Given the description of an element on the screen output the (x, y) to click on. 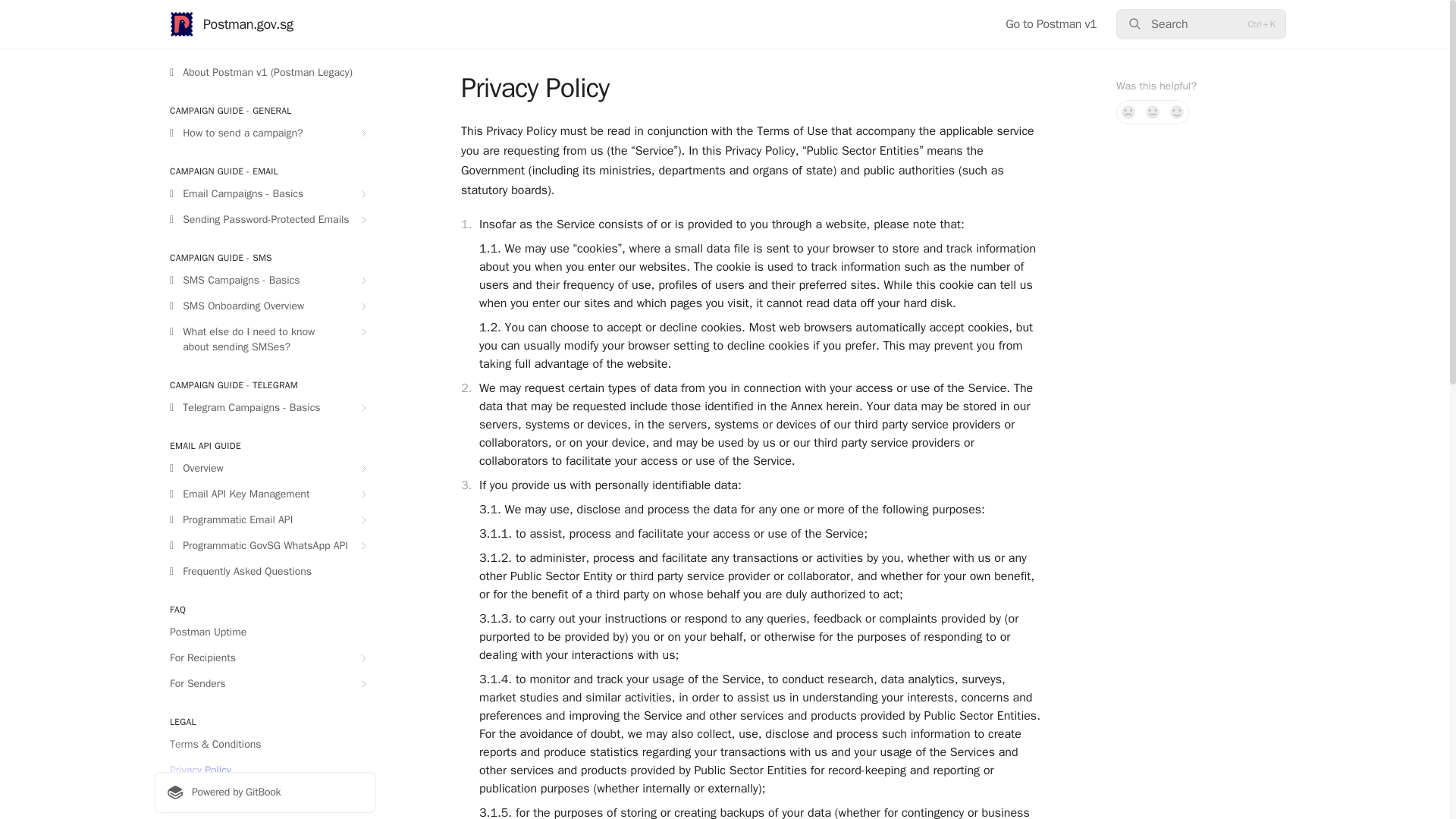
No (1128, 111)
Postman.gov.sg (232, 24)
Yes, it was! (1176, 111)
Go to Postman v1 (1051, 24)
Not sure (1152, 111)
